Given the description of an element on the screen output the (x, y) to click on. 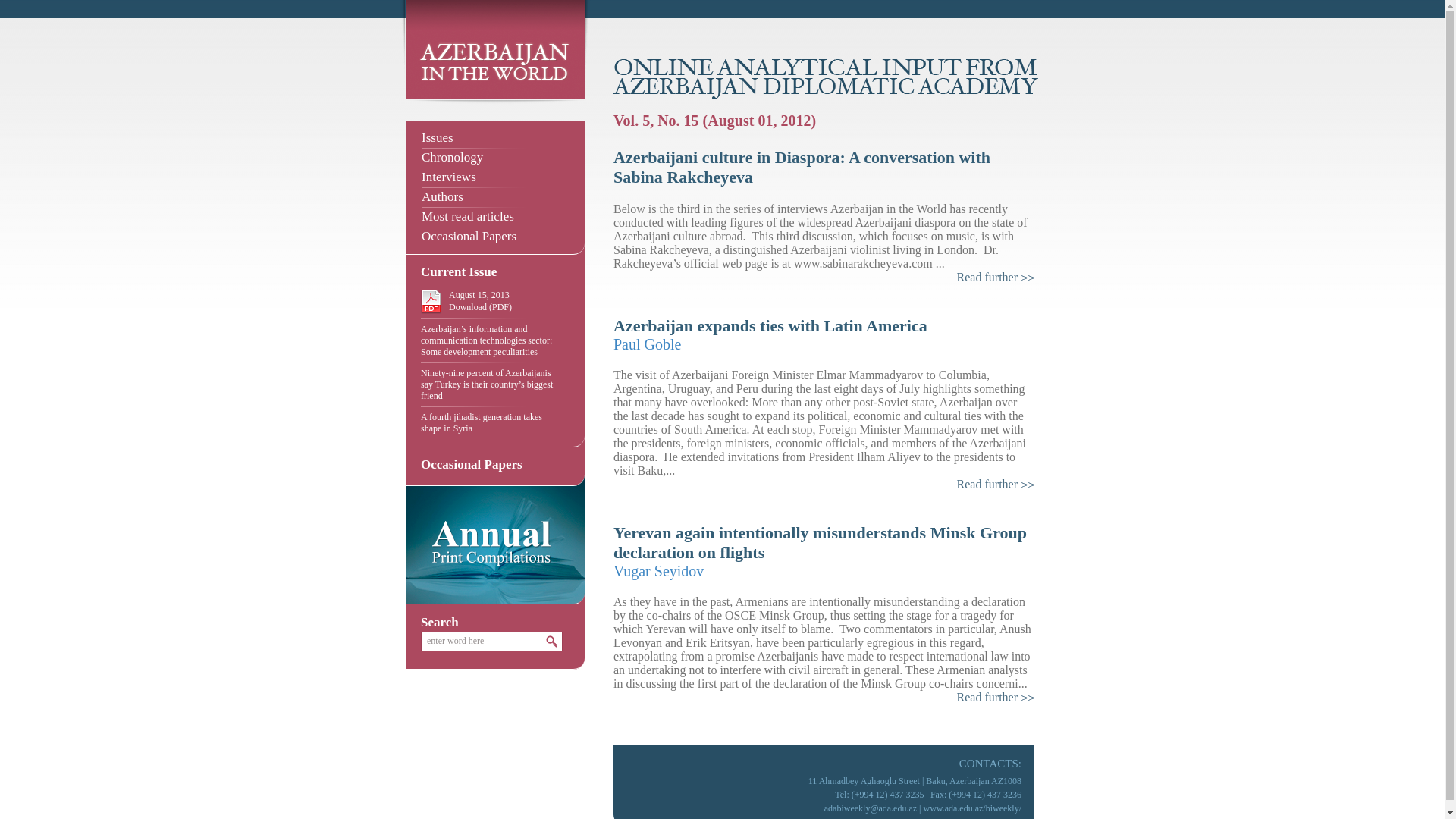
www.ada.edu.az/biweekly/ Element type: text (971, 808)
Issues Element type: text (495, 137)
Read further Element type: text (995, 277)
Most read articles Element type: text (495, 216)
A fourth jihadist generation takes shape in Syria Element type: text (481, 422)
Occasional Papers Element type: text (495, 236)
Paul Goble Element type: text (646, 343)
Chronology Element type: text (495, 157)
adabiweekly@ada.edu.az Element type: text (870, 808)
Interviews Element type: text (495, 177)
Read further Element type: text (995, 697)
Read further Element type: text (995, 484)
Vugar Seyidov Element type: text (658, 570)
Download (PDF) Element type: text (505, 312)
Authors Element type: text (495, 197)
